Given the description of an element on the screen output the (x, y) to click on. 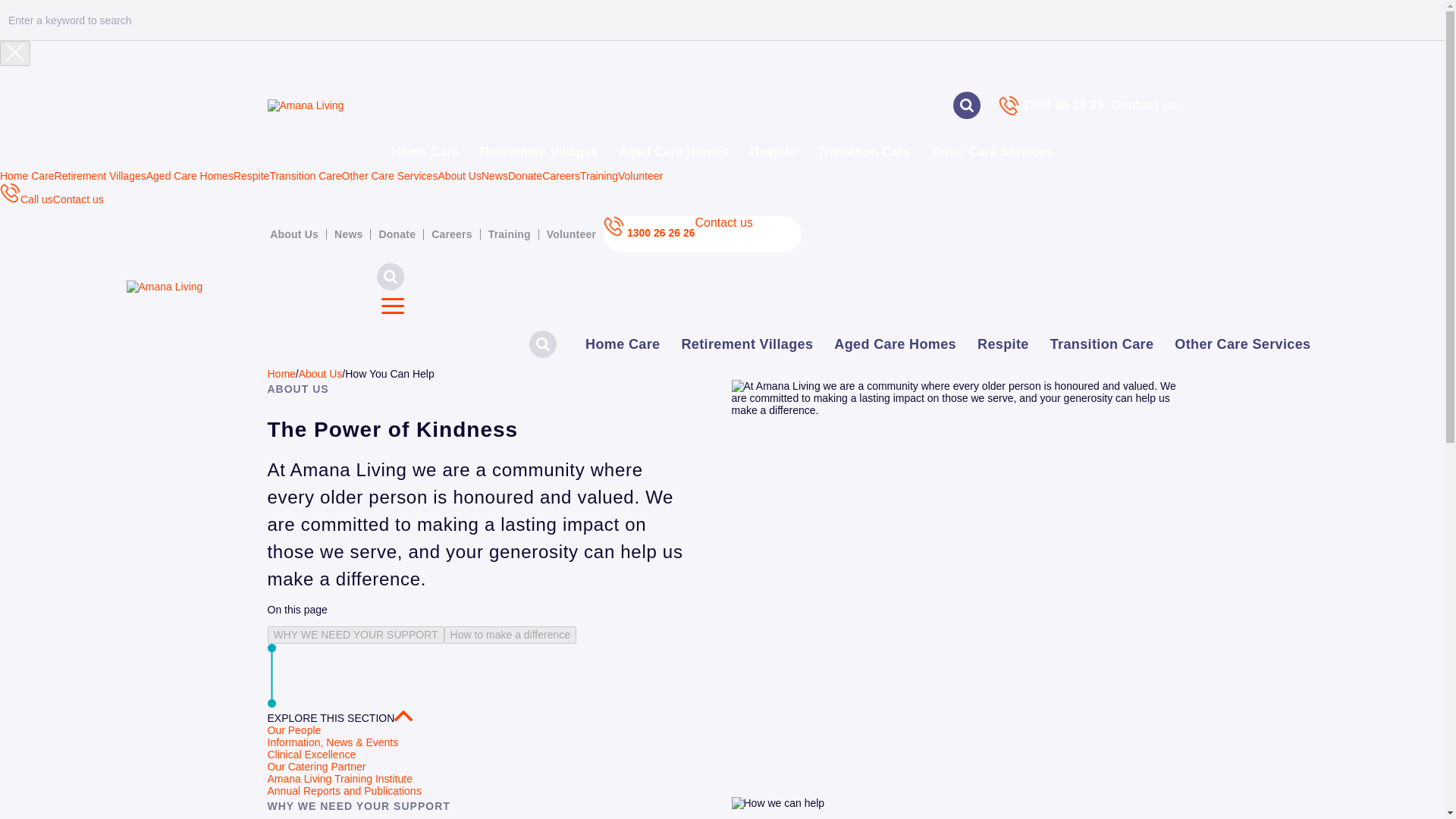
Aged Care Homes (674, 151)
Home Care (27, 175)
Combined Shape Copy (403, 715)
Donate (396, 234)
Close IconCreated with Sketch. (14, 52)
Close IconCreated with Sketch. (15, 53)
Careers (451, 234)
Training (598, 175)
Contact us (1144, 104)
Aged Care Homes (895, 344)
